Given the description of an element on the screen output the (x, y) to click on. 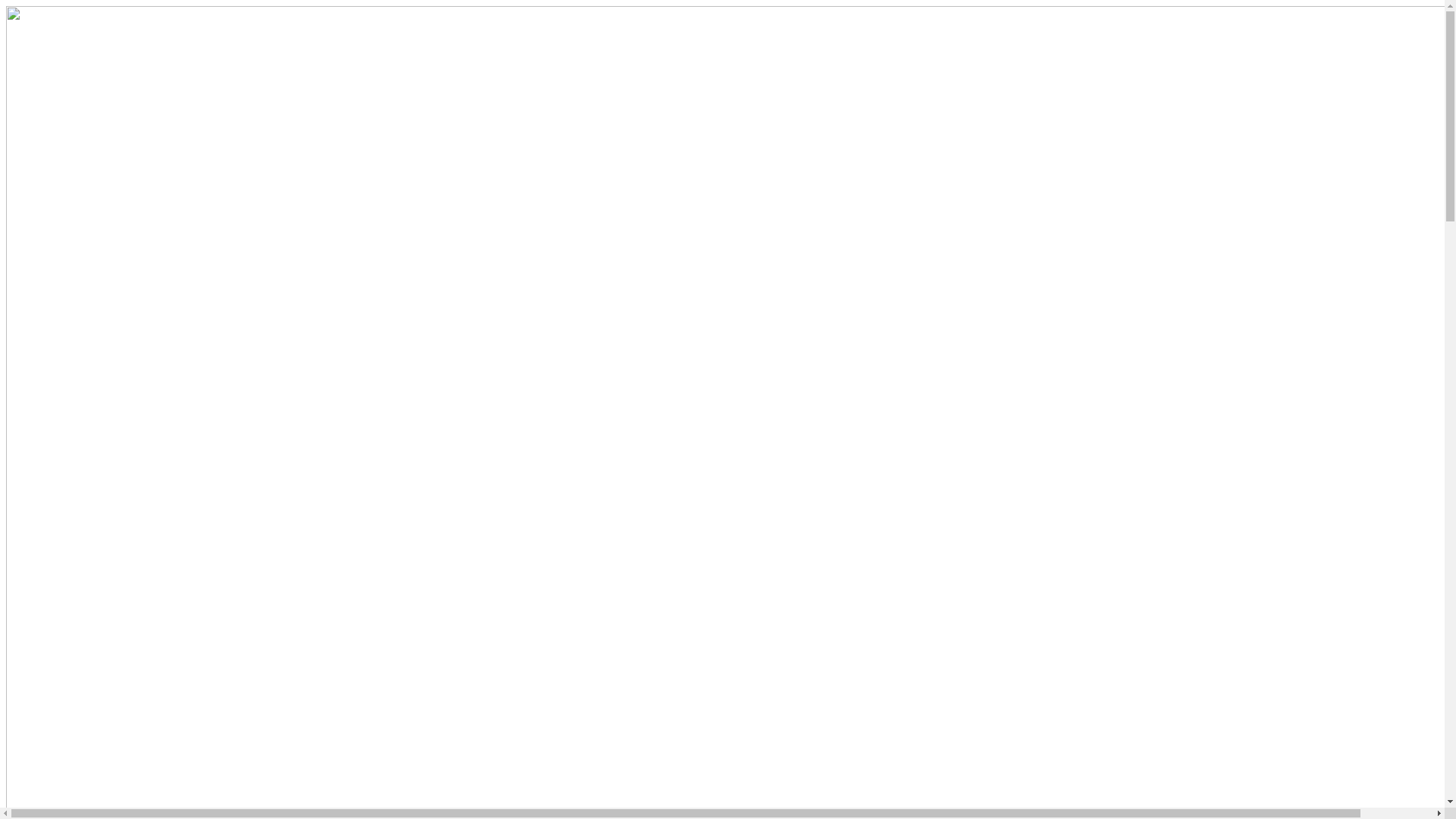
Zum Inhalt springen Element type: text (5, 5)
